Given the description of an element on the screen output the (x, y) to click on. 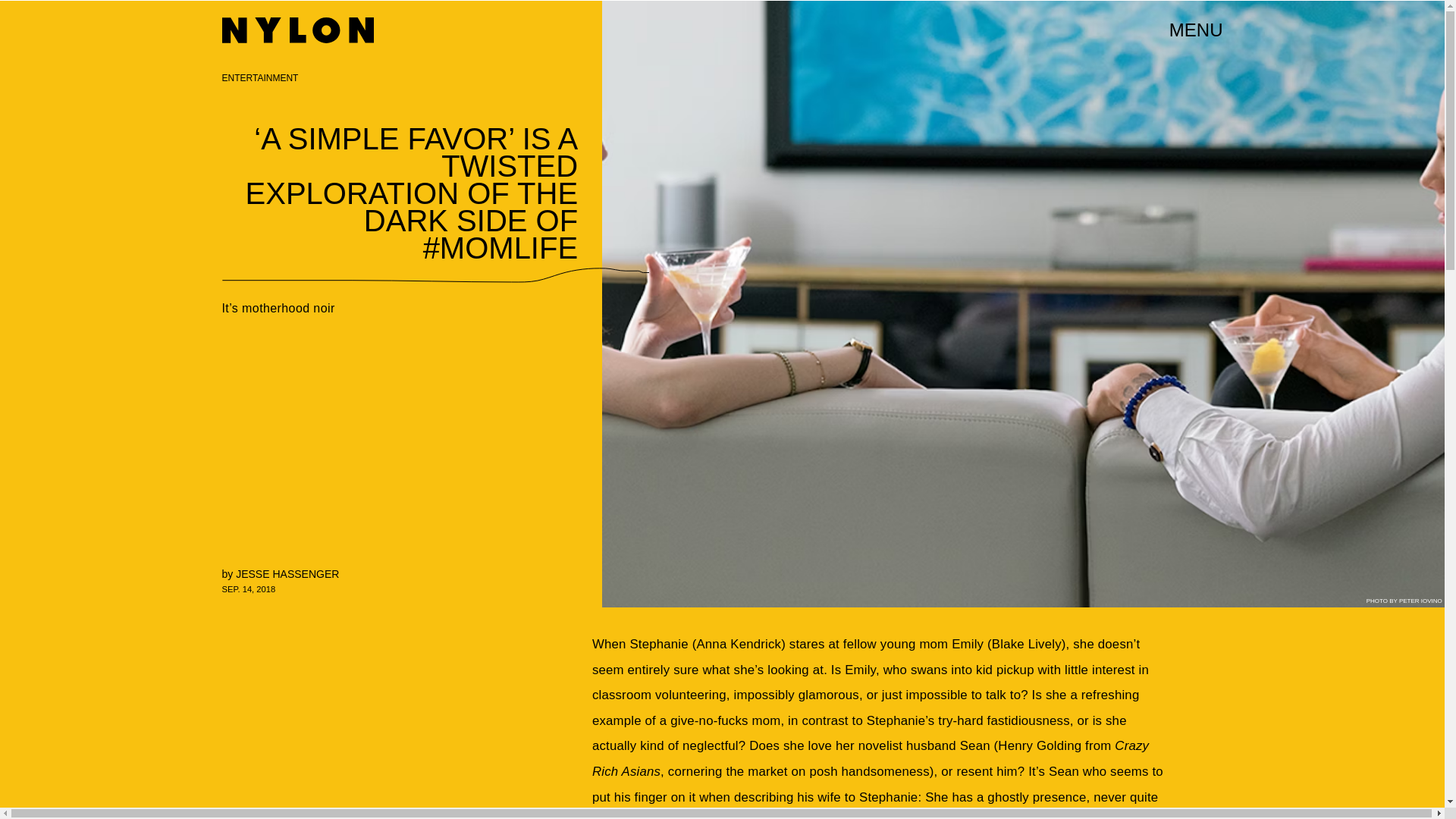
Nylon (296, 30)
JESSE HASSENGER (287, 573)
